Given the description of an element on the screen output the (x, y) to click on. 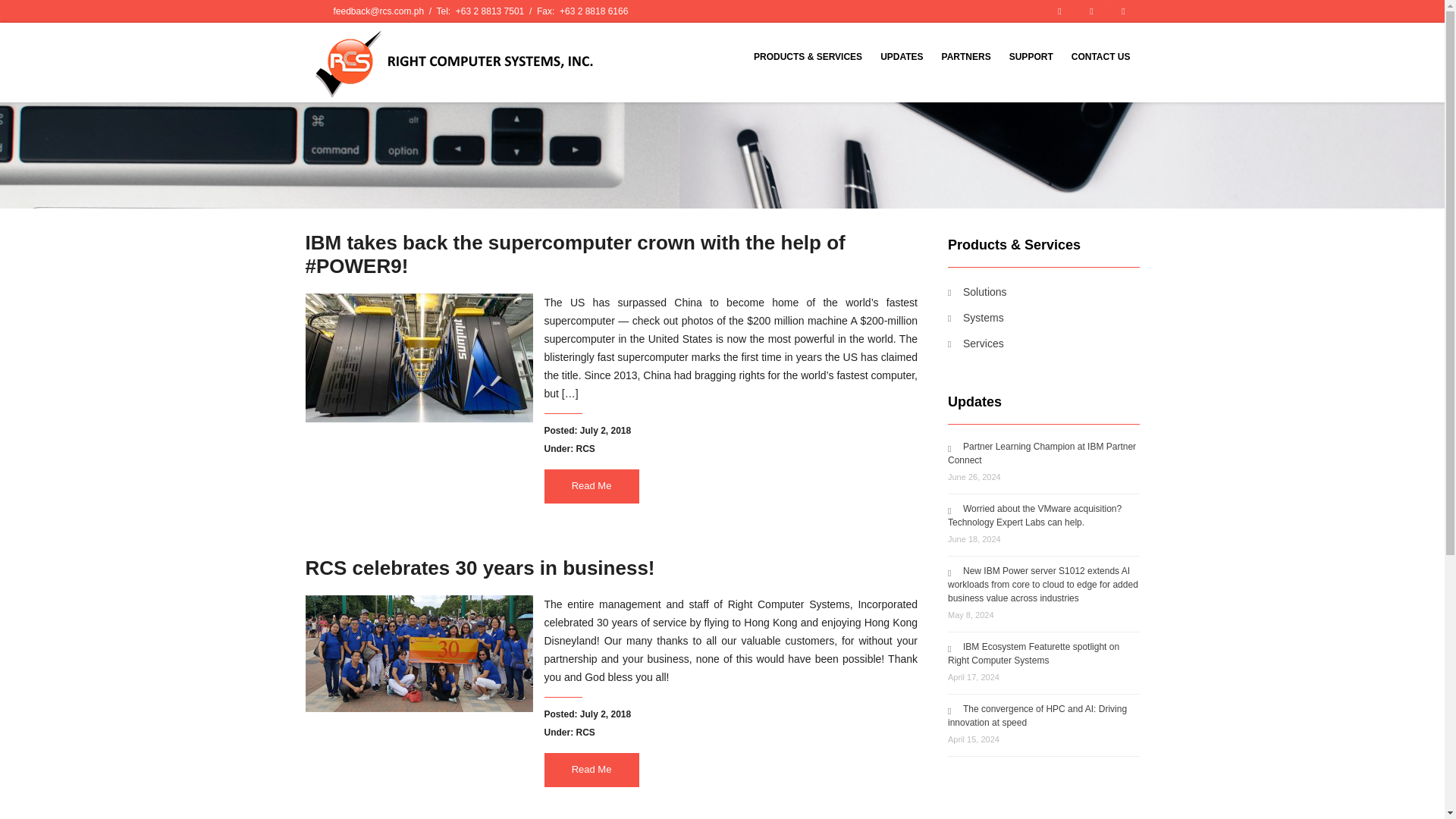
CONTACT US (1101, 56)
RCS (585, 732)
CONTACT US (1101, 56)
Partner Learning Champion at IBM Partner Connect (1041, 453)
RCS (585, 448)
IBM Ecosystem Featurette spotlight on Right Computer Systems (1033, 653)
Read Me (591, 486)
Read Me (591, 769)
Systems (975, 317)
Twitter (1090, 11)
Solutions (977, 291)
RCS celebrates 30 years in business! (478, 567)
Facebook (1059, 11)
